Given the description of an element on the screen output the (x, y) to click on. 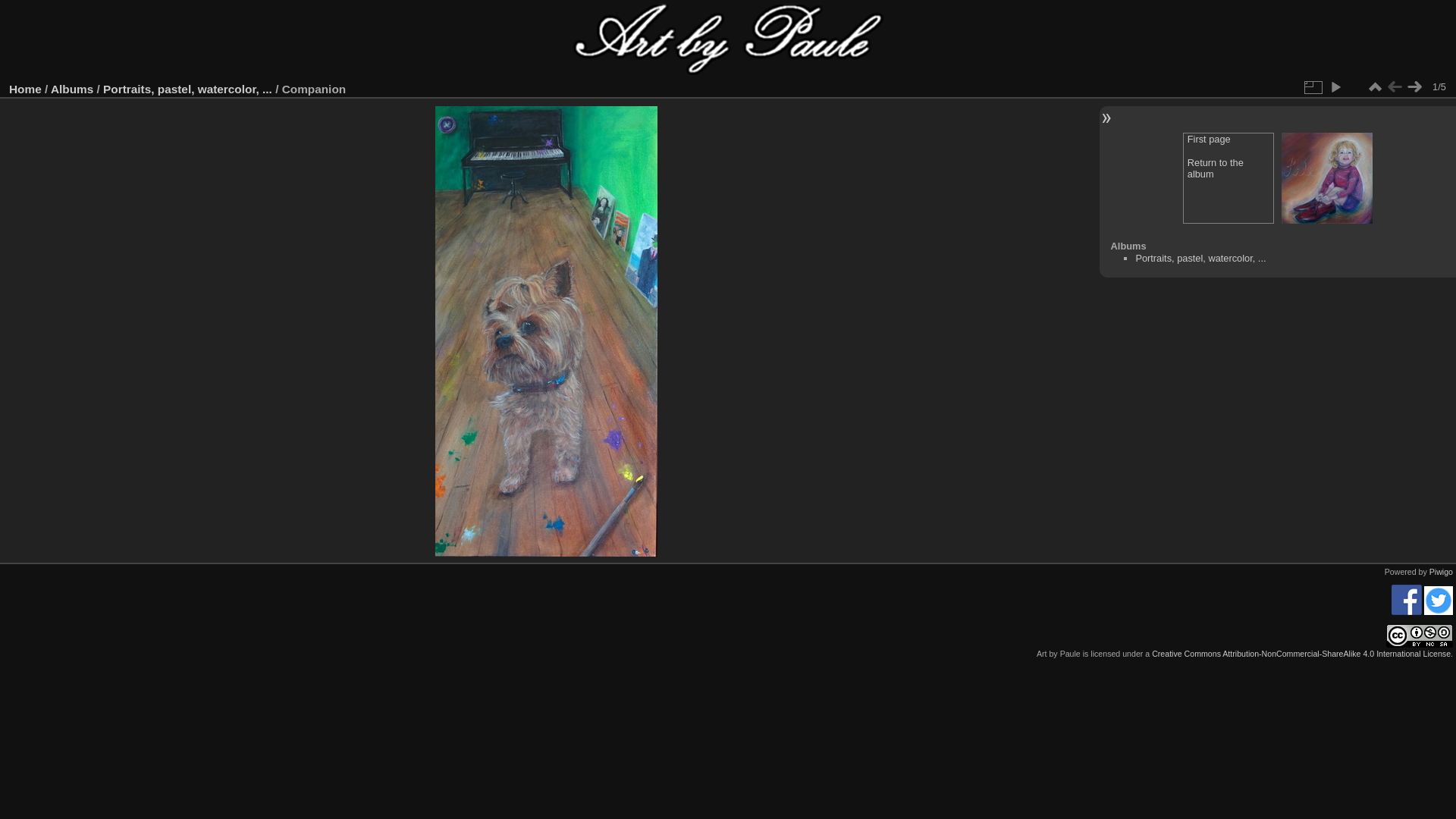
Albums Element type: text (71, 88)
Piwigo Element type: text (1440, 571)
Portraits, pastel, watercolor, ... Element type: text (187, 88)
slideshow Element type: hover (1335, 87)
follow me on facebook Element type: hover (1406, 611)
Home Element type: text (25, 88)
Next : Portrait fillette Element type: hover (1414, 87)
Next : Portrait fillette Element type: hover (1326, 178)
Thumbnails Element type: hover (1374, 87)
Photo sizes Element type: hover (1312, 87)
First page

Return to the album Element type: text (1228, 177)
follow me on twitter Element type: hover (1438, 611)
Portraits, pastel, watercolor, ... Element type: text (1200, 257)
Companion - IMG_20170515_065524~2.jpg Element type: hover (546, 331)
